Given the description of an element on the screen output the (x, y) to click on. 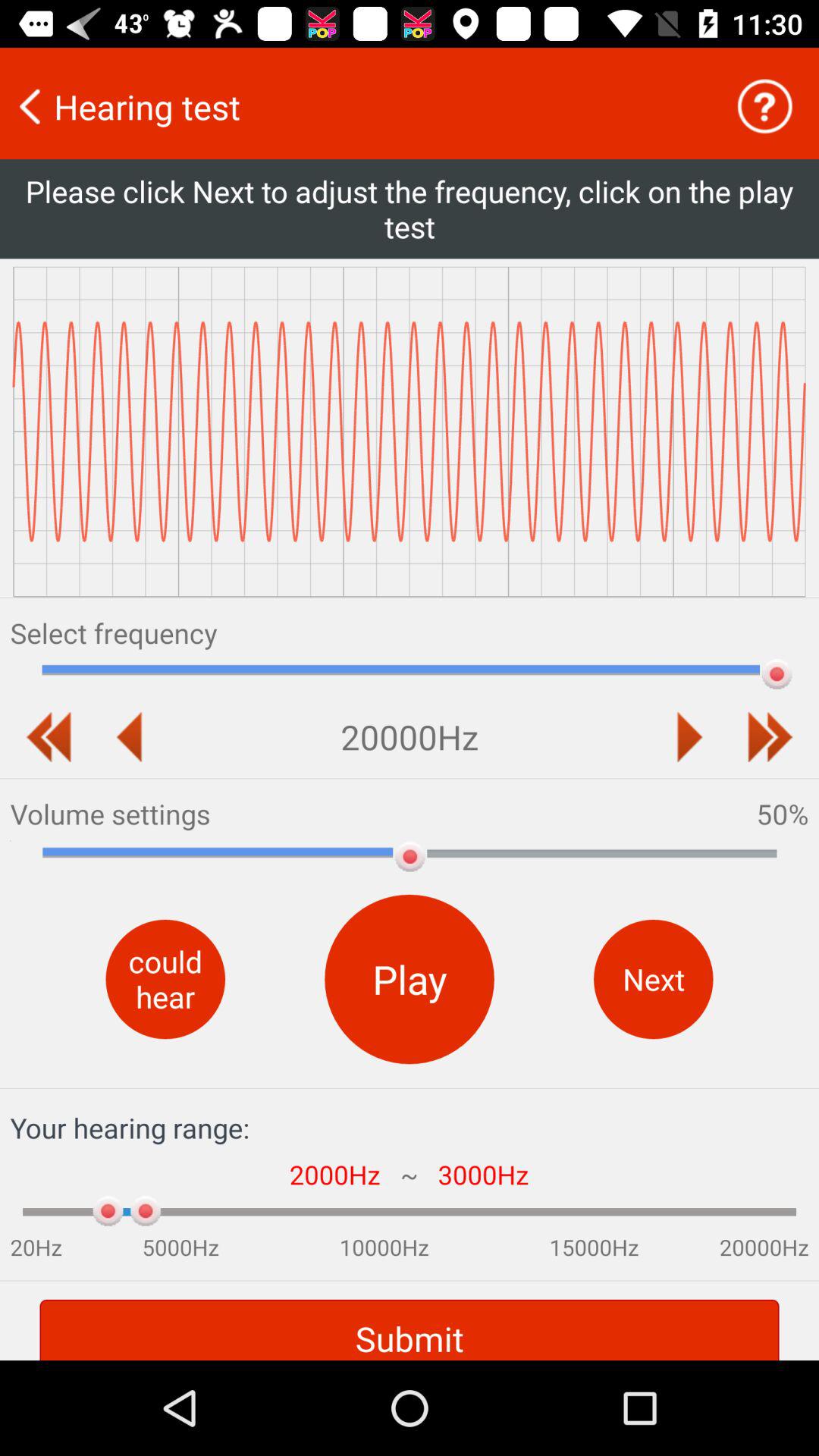
go to previous (689, 737)
